Given the description of an element on the screen output the (x, y) to click on. 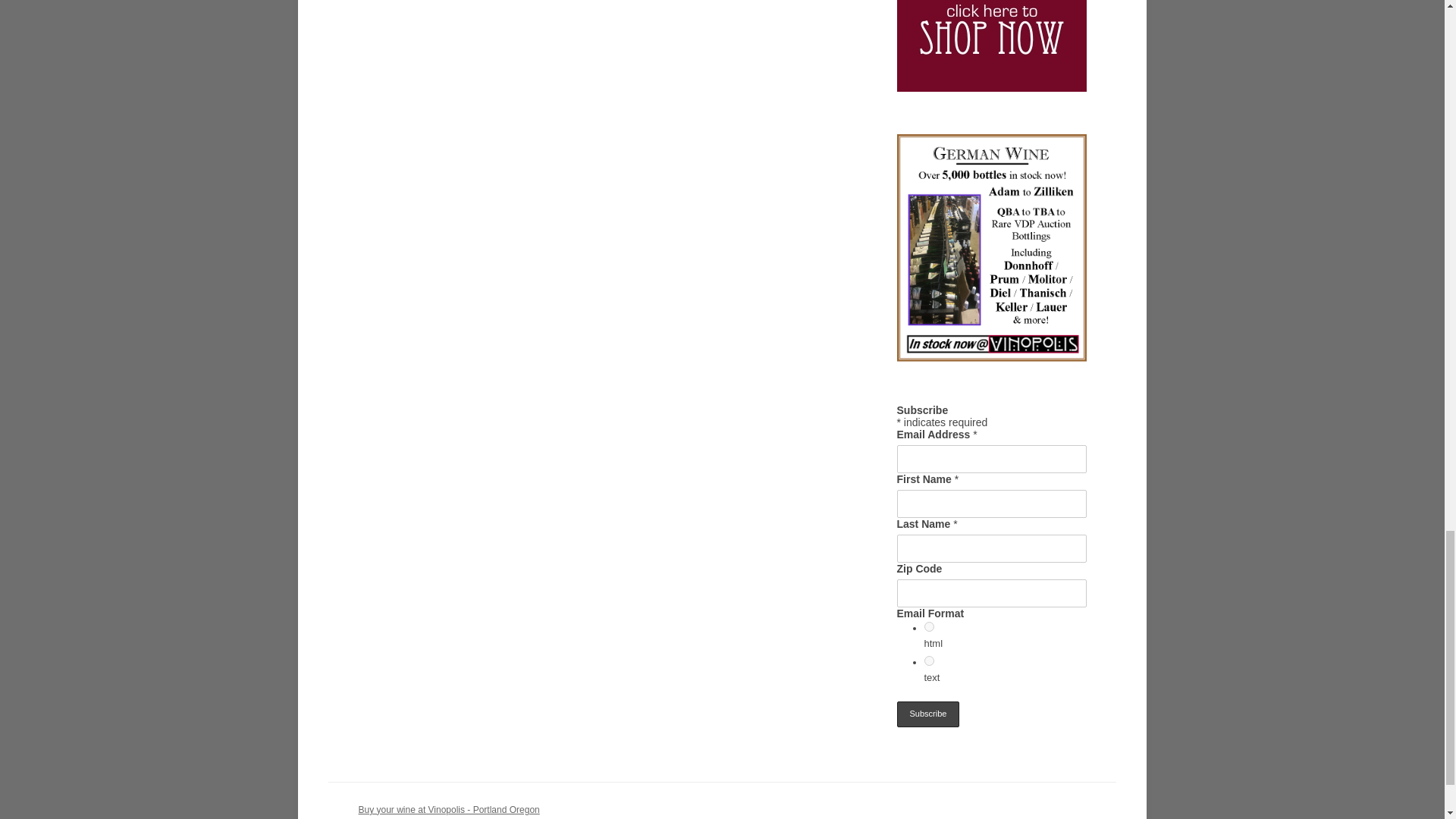
Buy your wine at Vinopolis - Portland Oregon (448, 809)
html (928, 626)
Subscribe (927, 714)
text (928, 660)
Subscribe (927, 714)
